Given the description of an element on the screen output the (x, y) to click on. 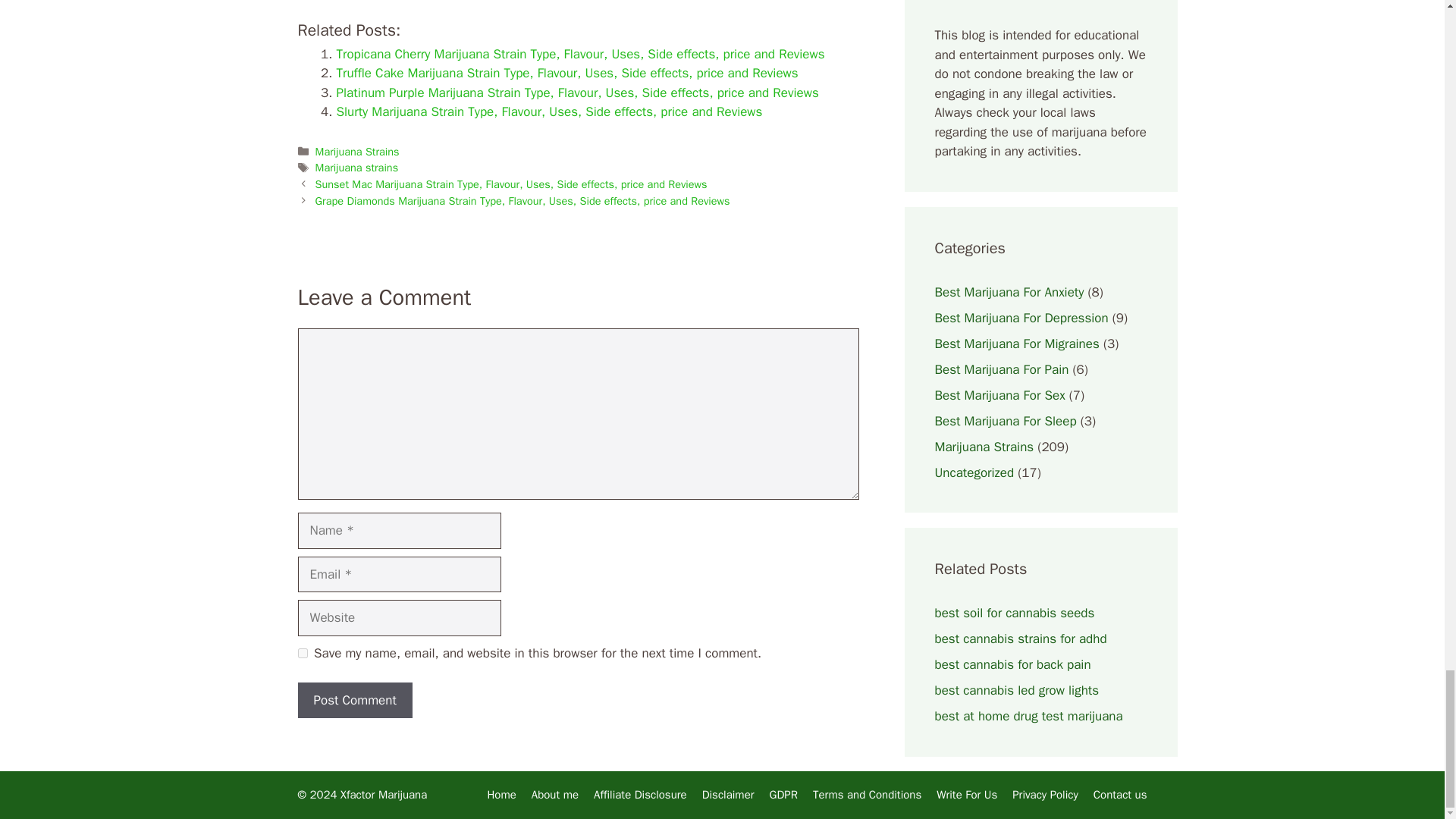
Post Comment (354, 700)
Marijuana strains (356, 167)
yes (302, 653)
